Given the description of an element on the screen output the (x, y) to click on. 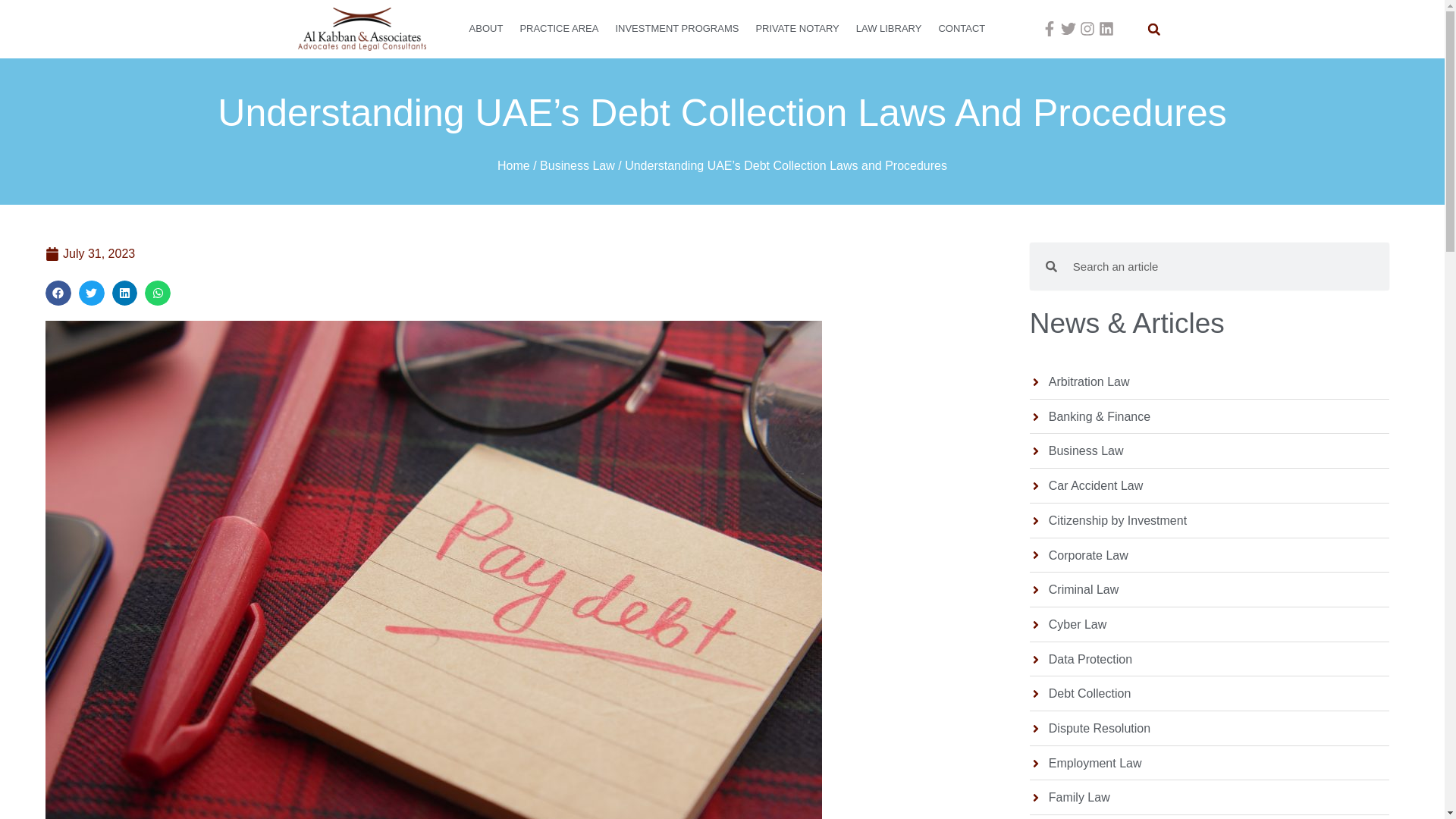
PRACTICE AREA (559, 28)
ABOUT (486, 28)
LAW LIBRARY (888, 28)
PRIVATE NOTARY (796, 28)
INVESTMENT PROGRAMS (676, 28)
CONTACT (961, 28)
